Given the description of an element on the screen output the (x, y) to click on. 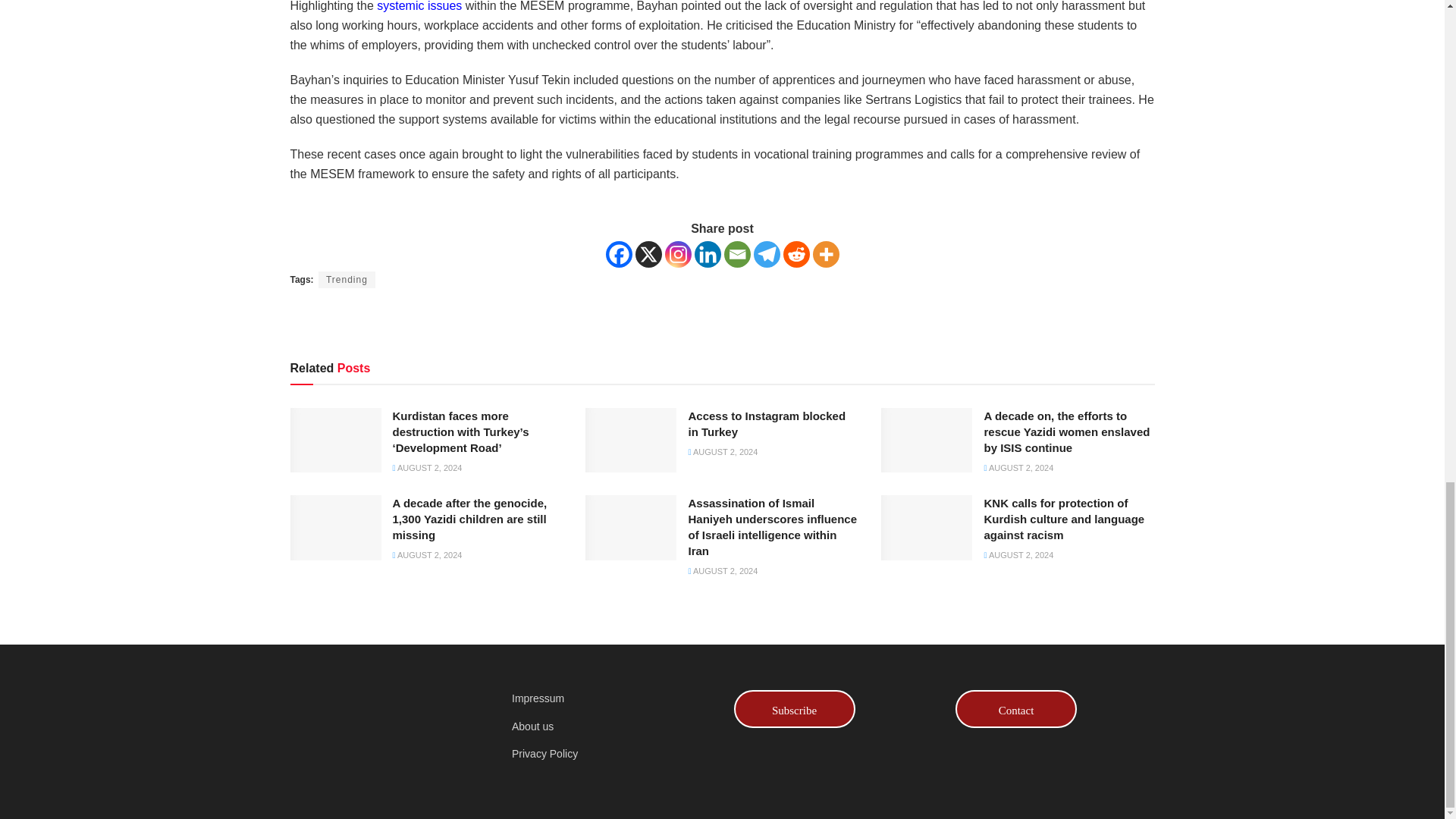
X (648, 253)
Email (736, 253)
Instagram (676, 253)
Linkedin (707, 253)
Telegram (767, 253)
Facebook (618, 253)
